Given the description of an element on the screen output the (x, y) to click on. 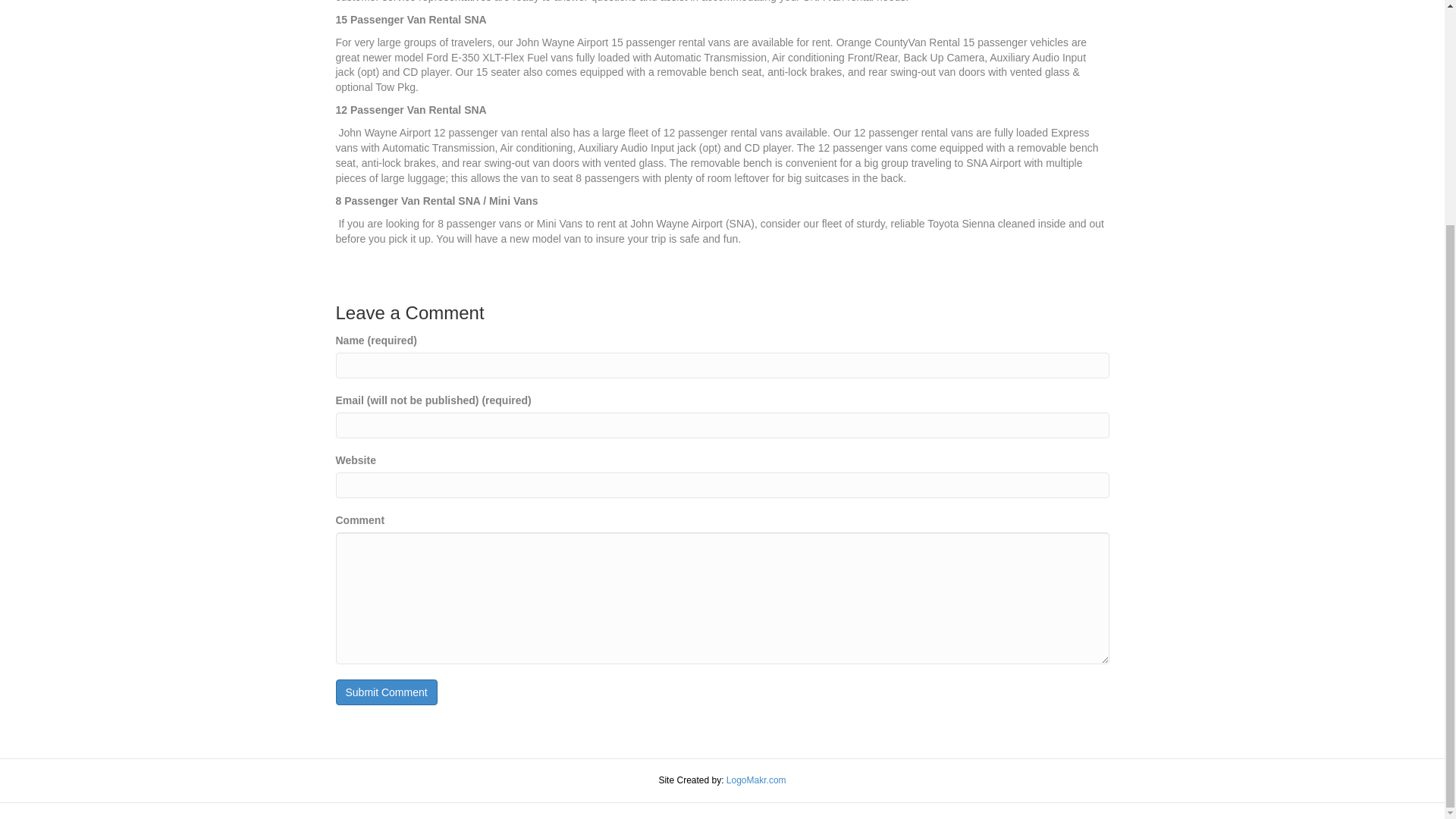
Submit Comment (385, 692)
Submit Comment (385, 692)
LogoMakr.com (756, 779)
